Given the description of an element on the screen output the (x, y) to click on. 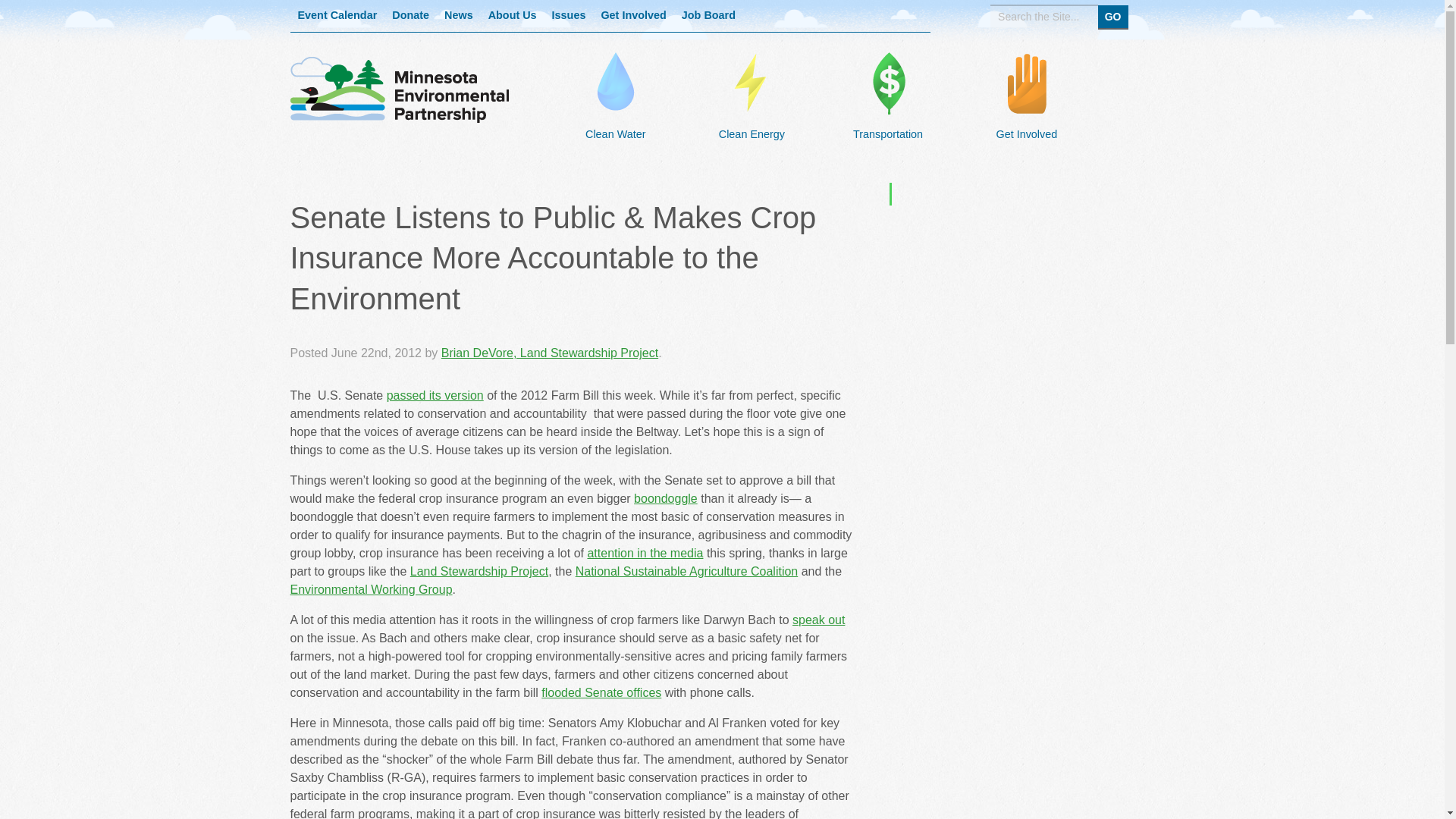
Posts by Brian DeVore, Land Stewardship Project (549, 352)
Clean Water (614, 124)
Get Involved (1026, 124)
News (458, 15)
GO (1112, 15)
Clean Energy (751, 124)
Donate (410, 15)
Job Board (708, 15)
Issues (569, 15)
Get Involved (632, 15)
